Given the description of an element on the screen output the (x, y) to click on. 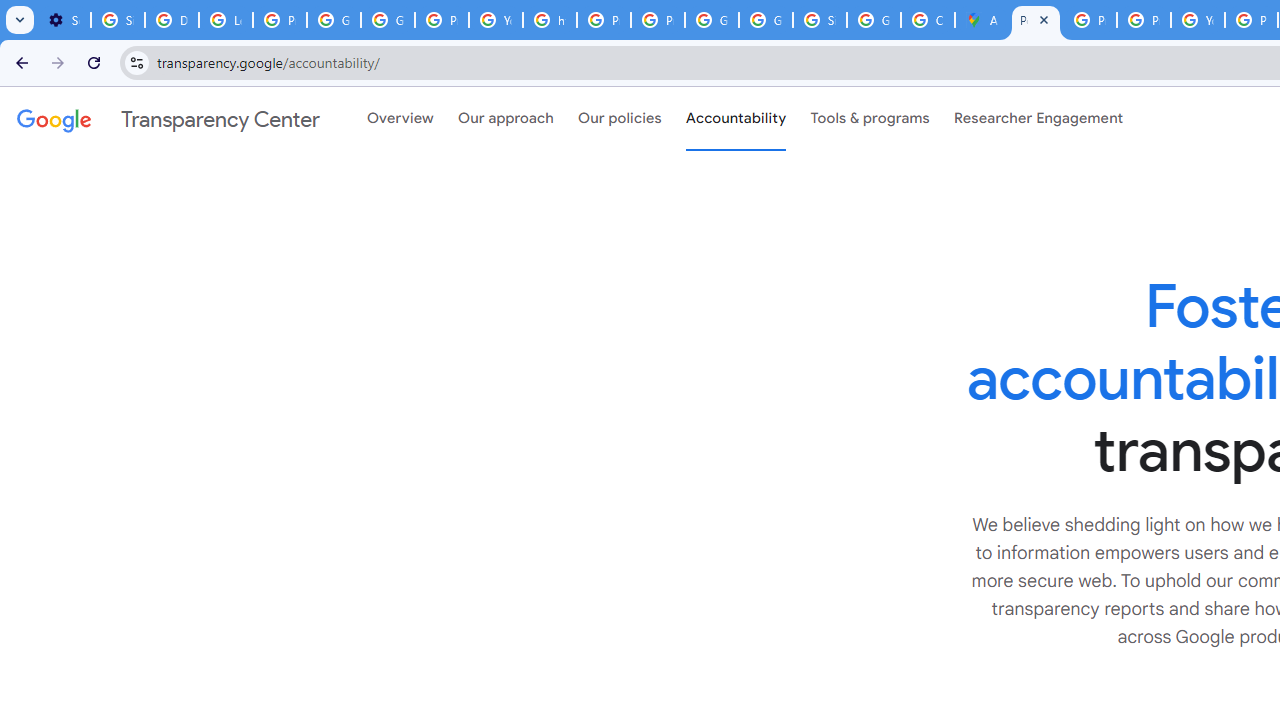
Our approach (506, 119)
Privacy Help Center - Policies Help (1089, 20)
Accountability (735, 119)
Privacy Help Center - Policies Help (1144, 20)
